Given the description of an element on the screen output the (x, y) to click on. 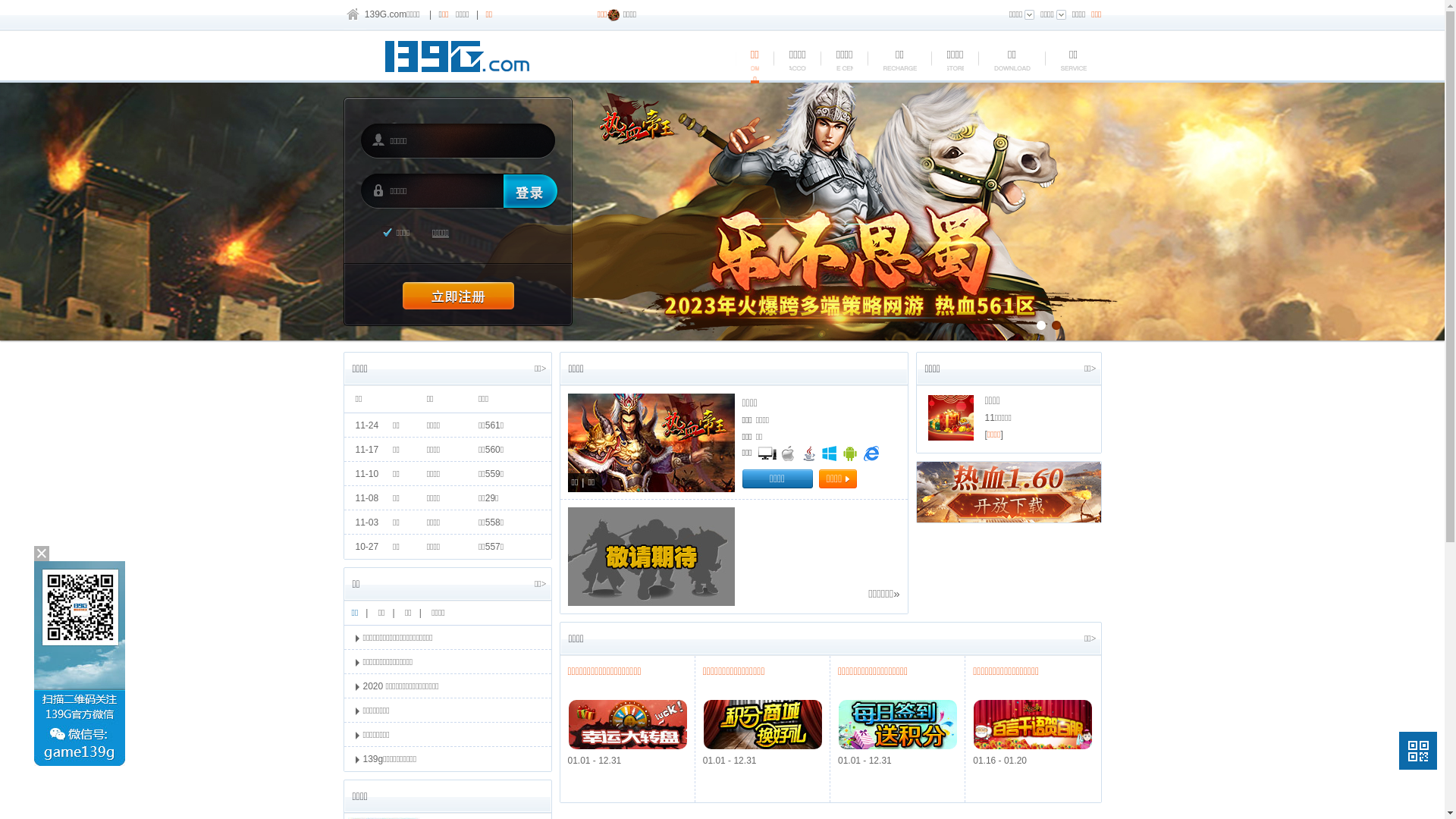
139G.com Element type: text (385, 14)
139G Element type: text (460, 58)
IOS Element type: hover (787, 453)
WP8 Element type: hover (829, 453)
Android Element type: hover (849, 453)
JAVA Element type: hover (809, 453)
PC Element type: hover (767, 453)
